Given the description of an element on the screen output the (x, y) to click on. 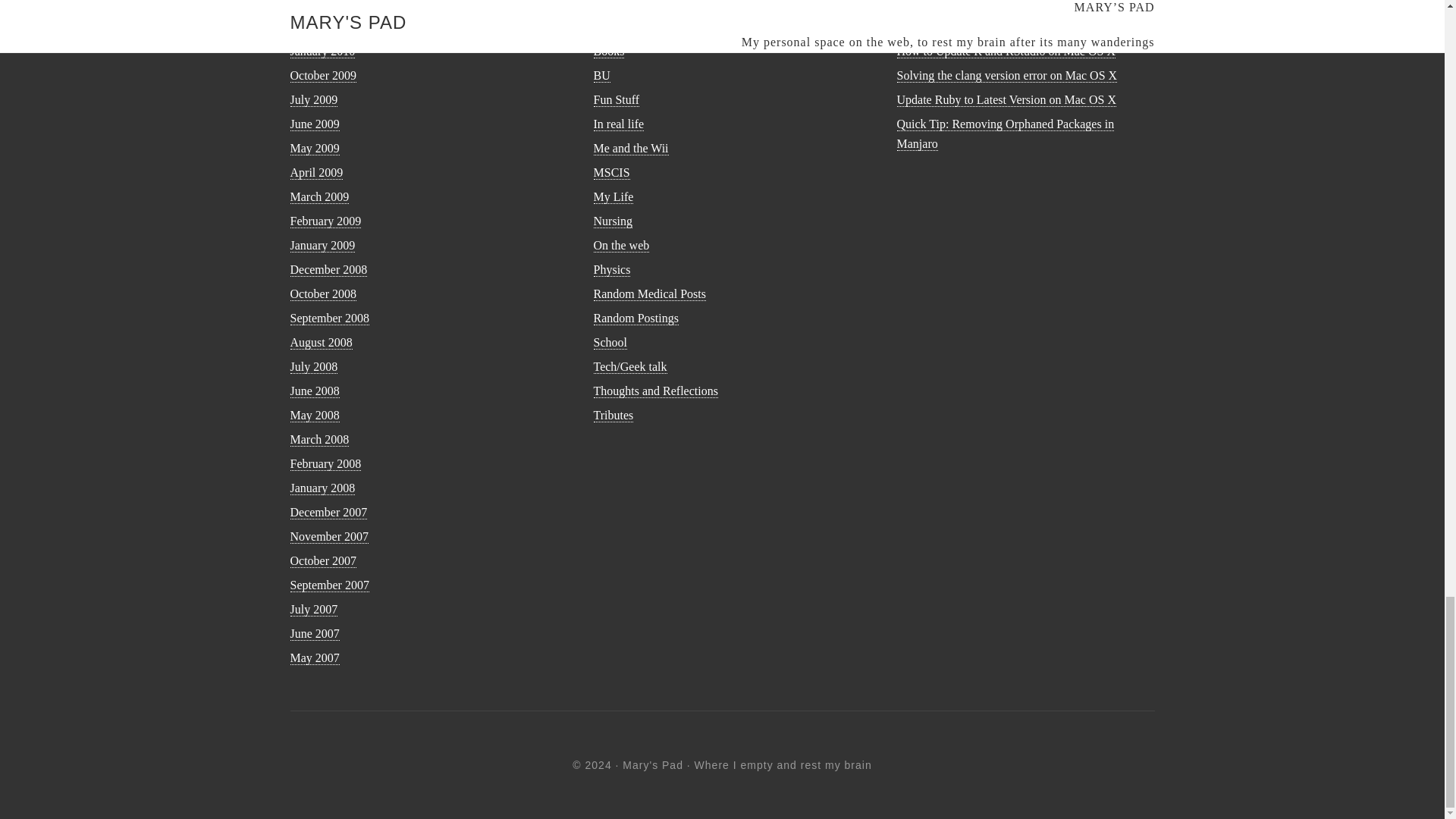
June 2009 (314, 124)
October 2009 (322, 75)
August 2017 (320, 27)
July 2009 (313, 100)
January 2010 (322, 51)
